Given the description of an element on the screen output the (x, y) to click on. 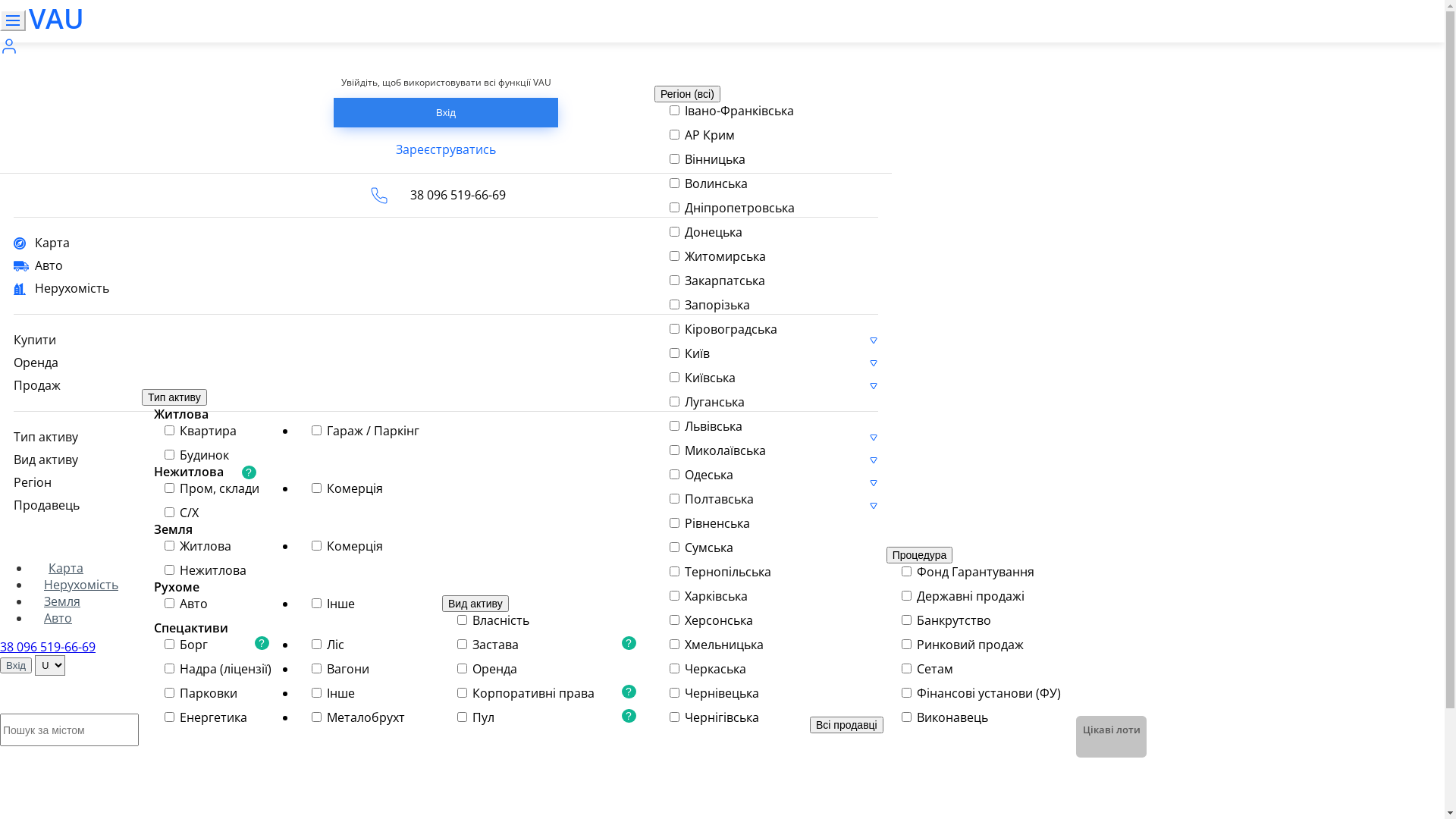
38 096 519-66-69 Element type: text (445, 195)
VAU Element type: text (56, 18)
38 096 519-66-69 Element type: text (47, 646)
